Given the description of an element on the screen output the (x, y) to click on. 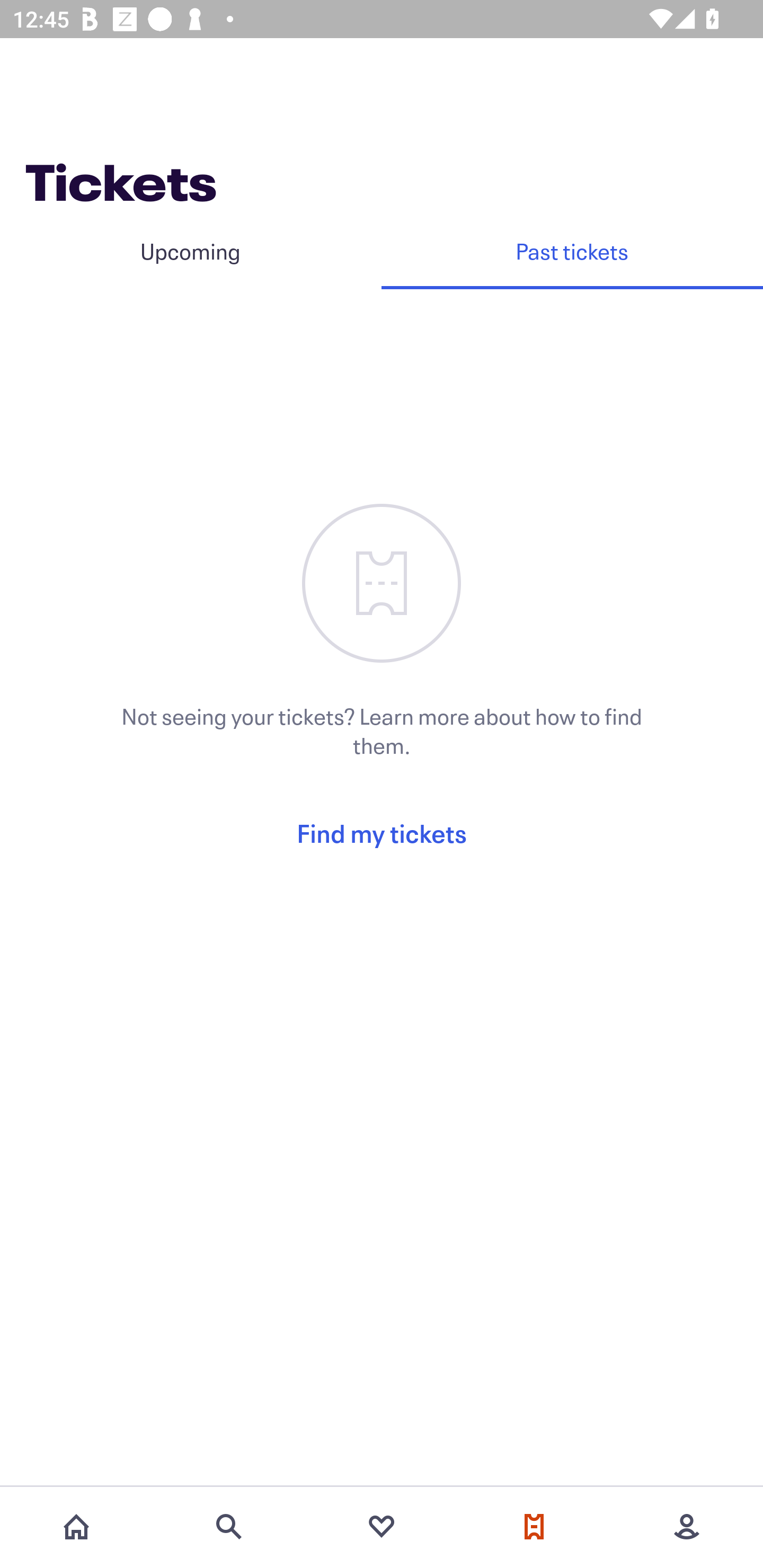
Upcoming (190, 250)
Find my tickets (381, 833)
Home (76, 1526)
Search events (228, 1526)
Favorites (381, 1526)
Tickets (533, 1526)
More (686, 1526)
